Given the description of an element on the screen output the (x, y) to click on. 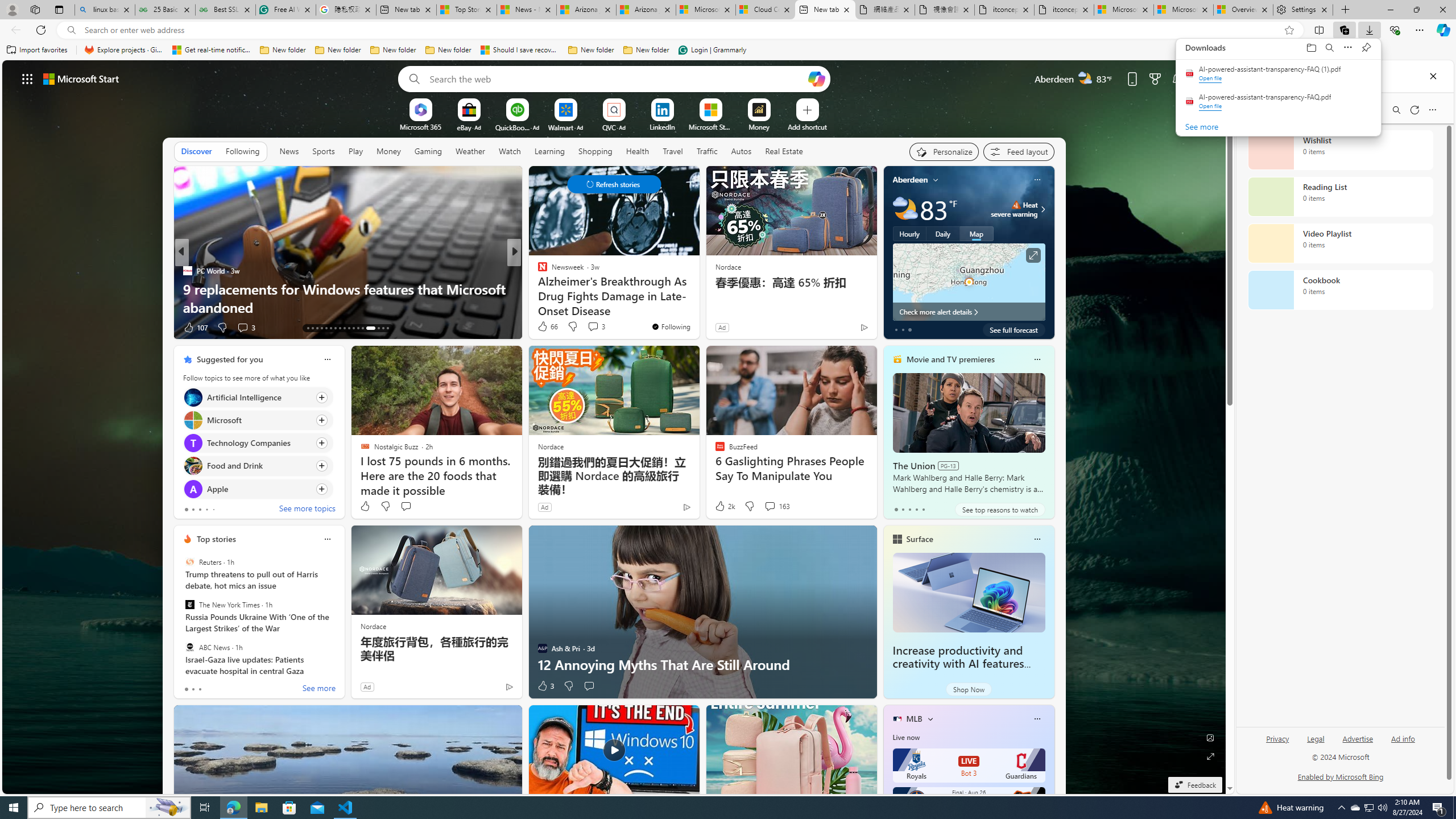
PC World (187, 270)
Daily (942, 233)
Shop Now (968, 689)
AutomationID: tab-24 (358, 328)
Legal (1315, 743)
15 Bad Hygiene Habits That Could Actually Make You Sick (697, 298)
AutomationID: tab-28 (382, 328)
Food and Drink (192, 466)
Overview (1243, 9)
